Given the description of an element on the screen output the (x, y) to click on. 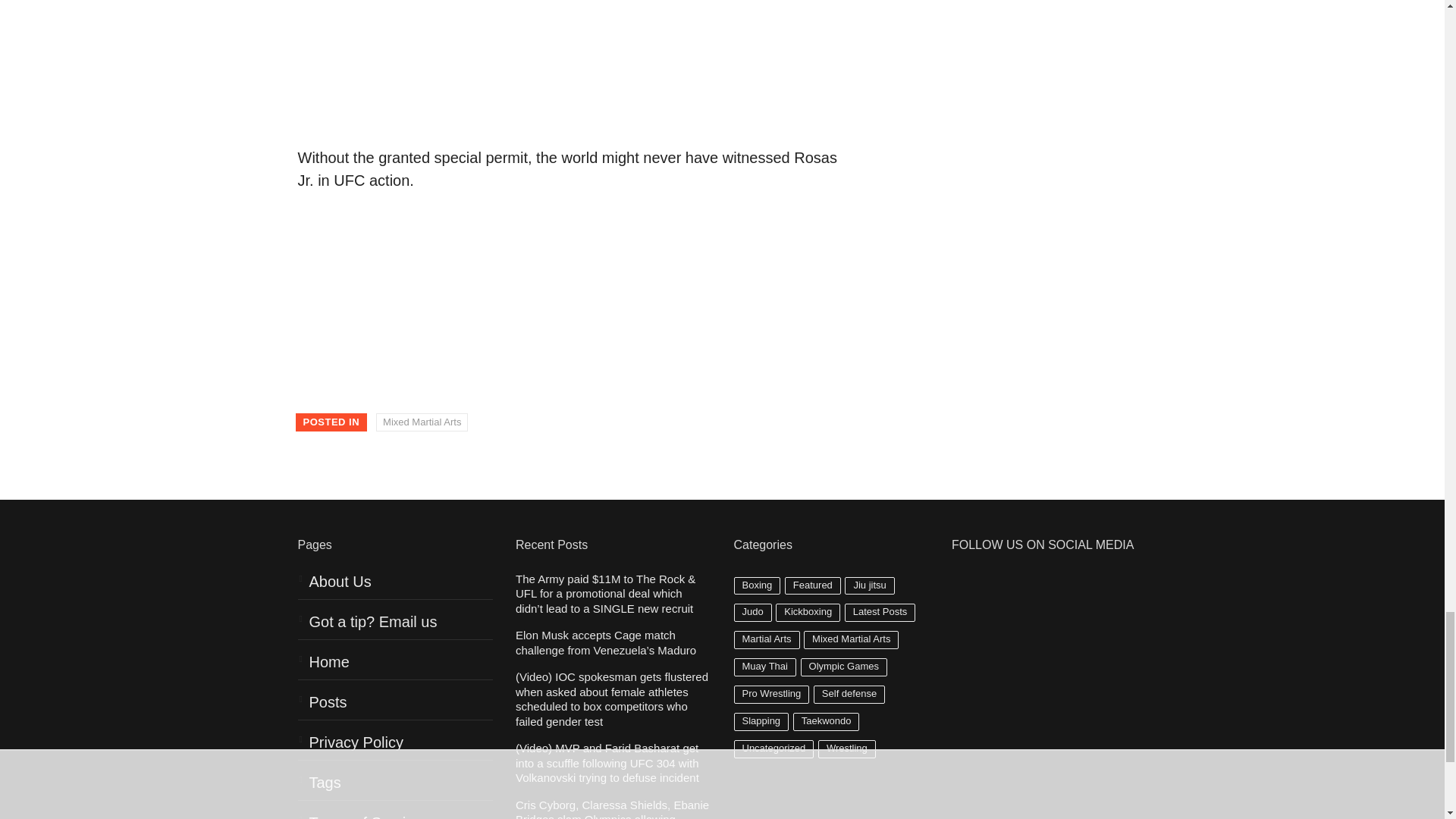
Mixed Martial Arts (421, 422)
